Given the description of an element on the screen output the (x, y) to click on. 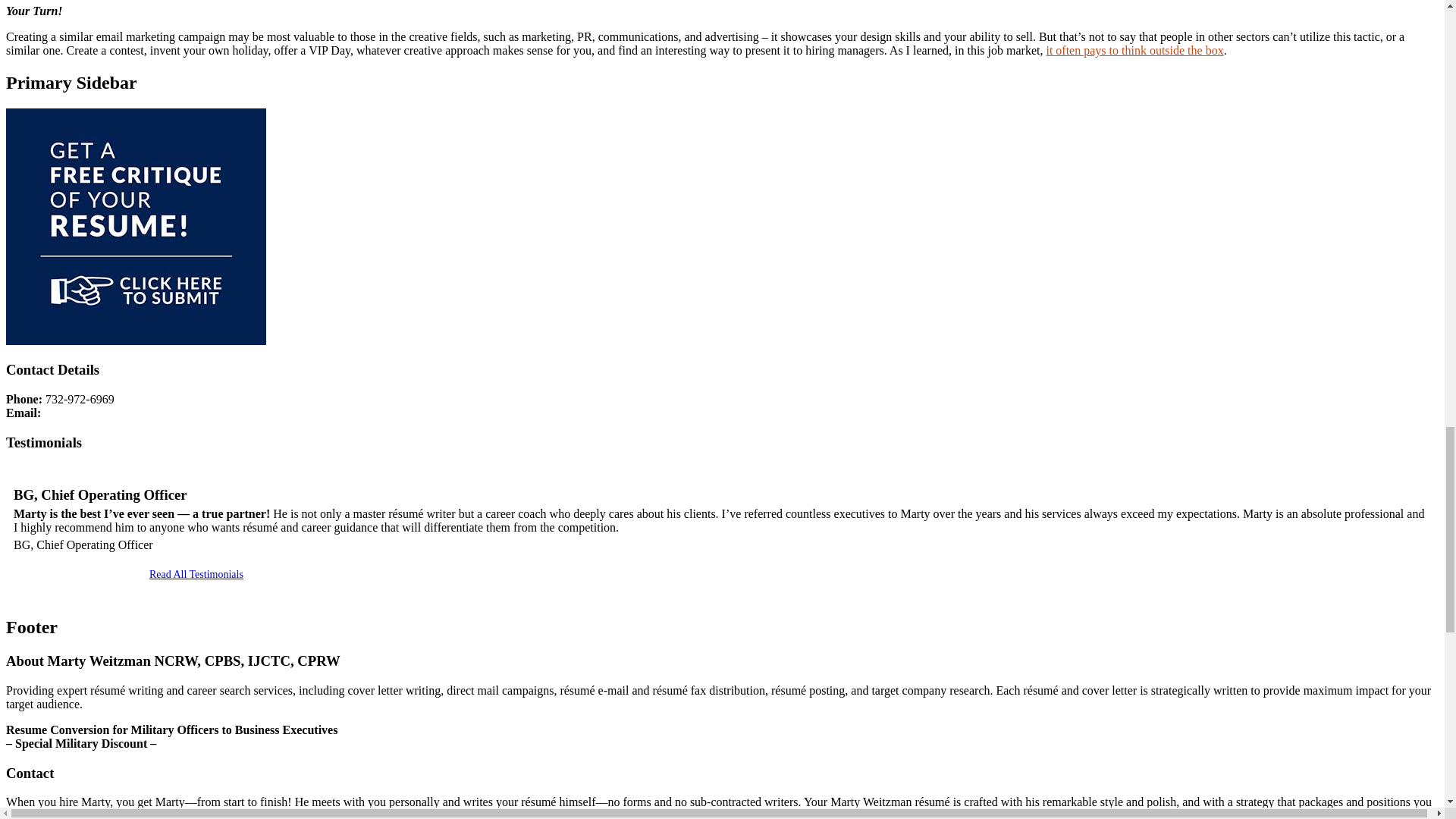
35 Surefire Ways to Stand Out During Your Job Search (1134, 50)
it often pays to think outside the box (1134, 50)
